Given the description of an element on the screen output the (x, y) to click on. 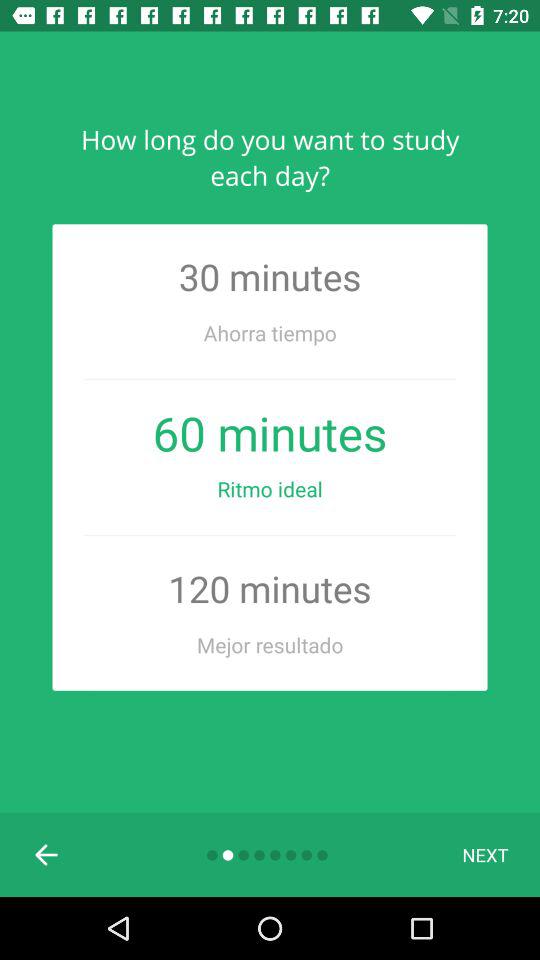
press the item to the left of the next (47, 854)
